Given the description of an element on the screen output the (x, y) to click on. 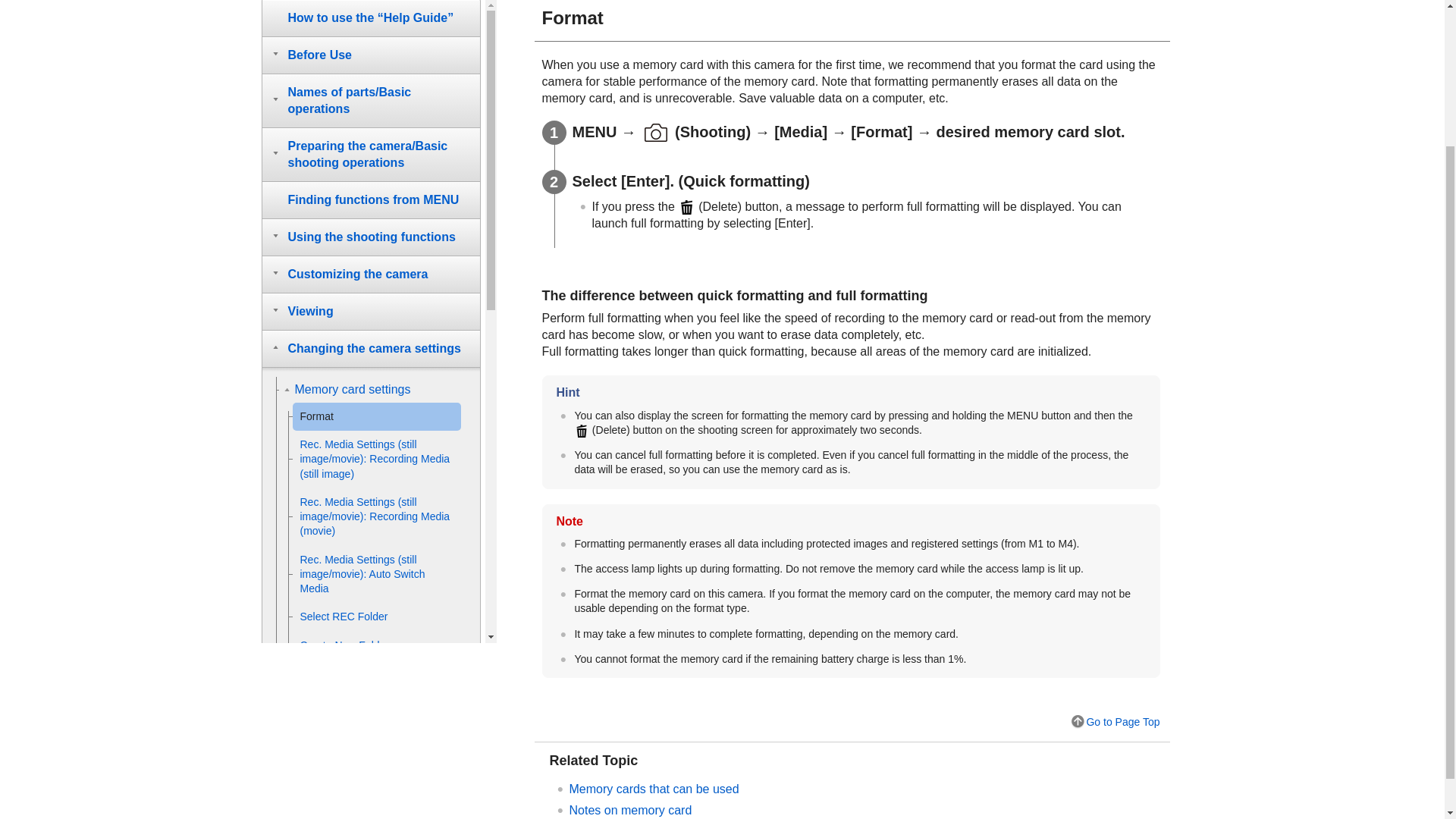
Before Use (370, 54)
Notes on memory card (630, 809)
Go to Page Top (1114, 721)
Memory cards that can be used (653, 788)
